Given the description of an element on the screen output the (x, y) to click on. 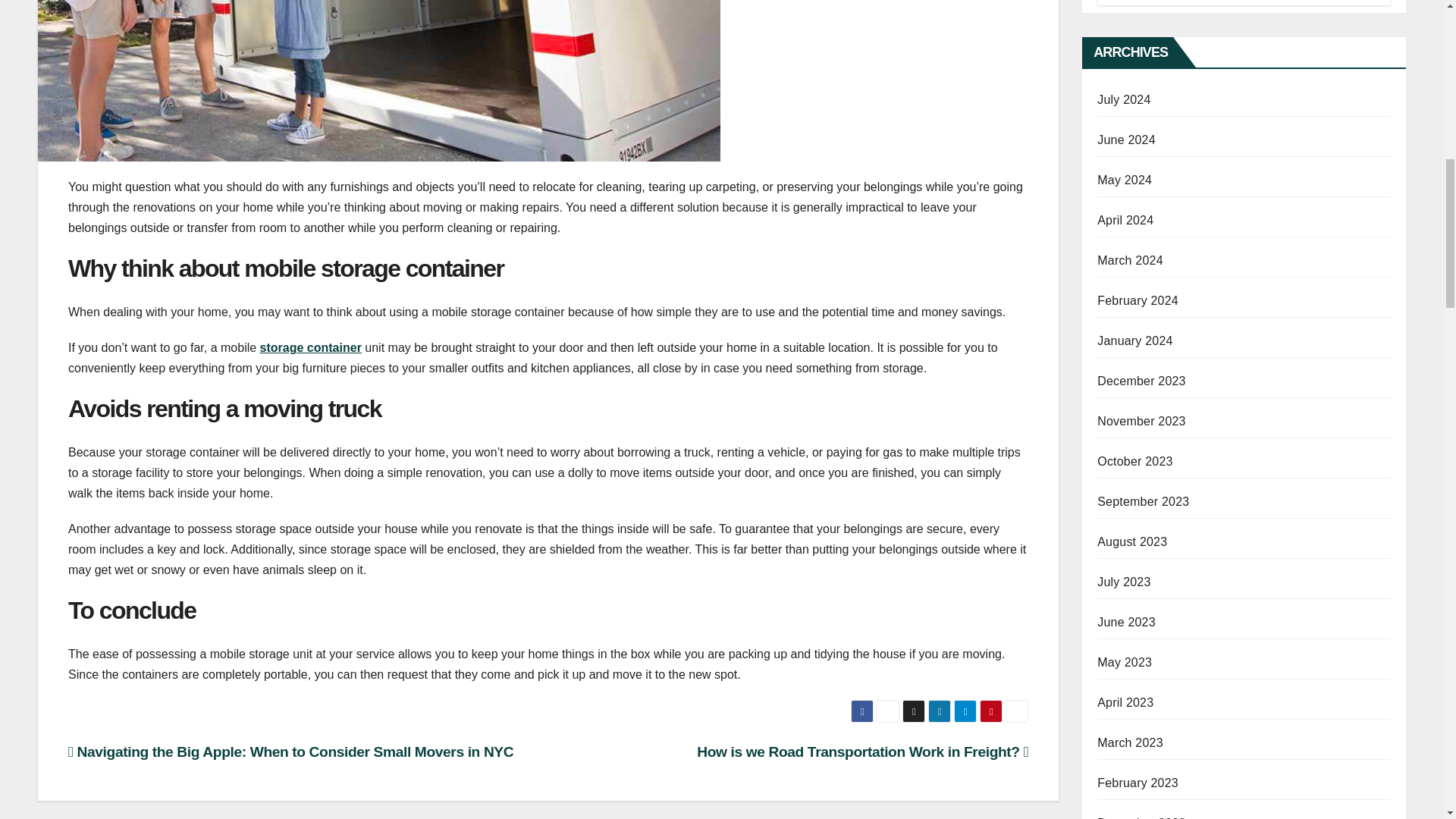
How is we Road Transportation Work in Freight? (862, 751)
storage container (310, 347)
